Given the description of an element on the screen output the (x, y) to click on. 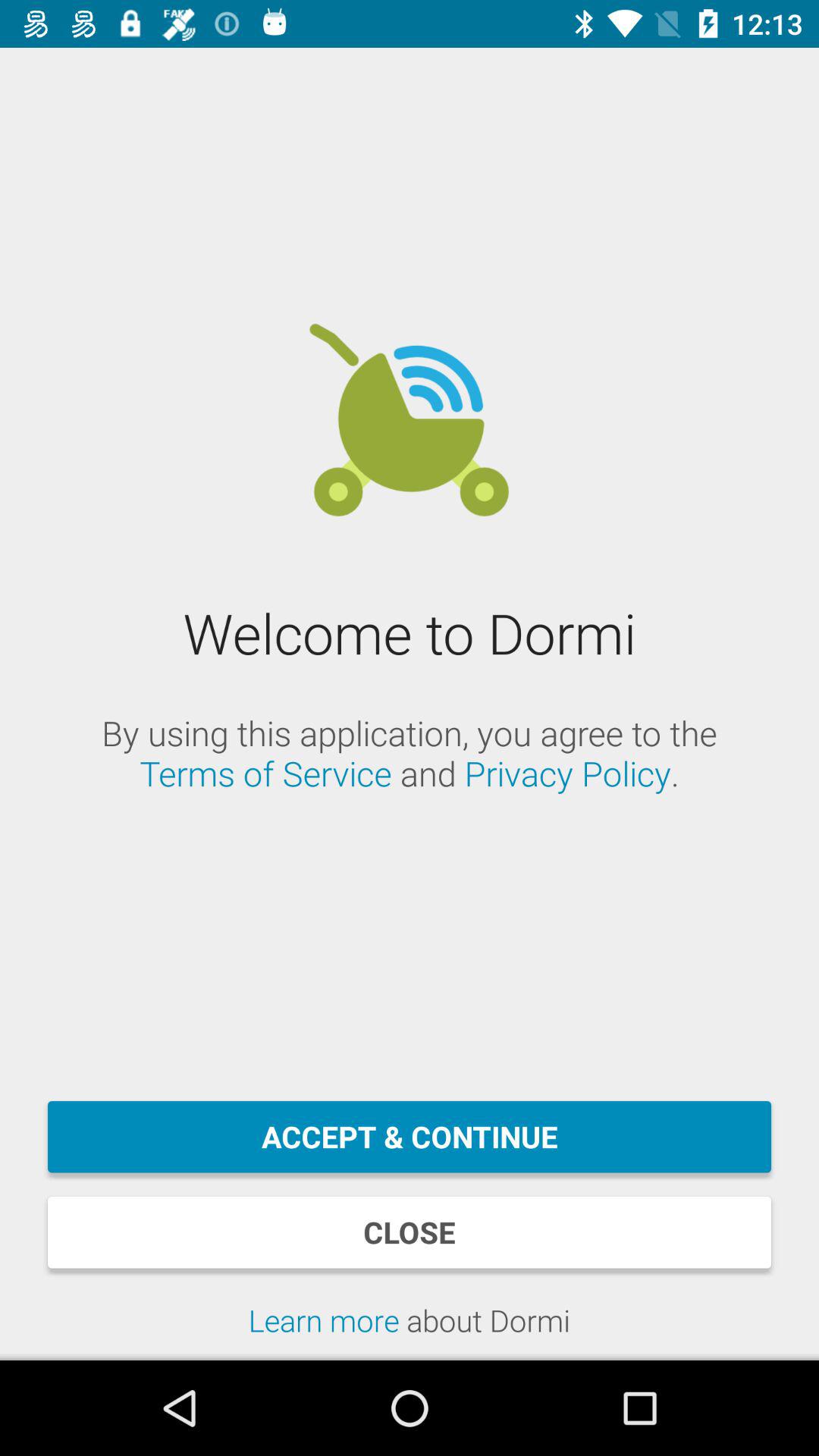
turn off the item below close item (409, 1330)
